Given the description of an element on the screen output the (x, y) to click on. 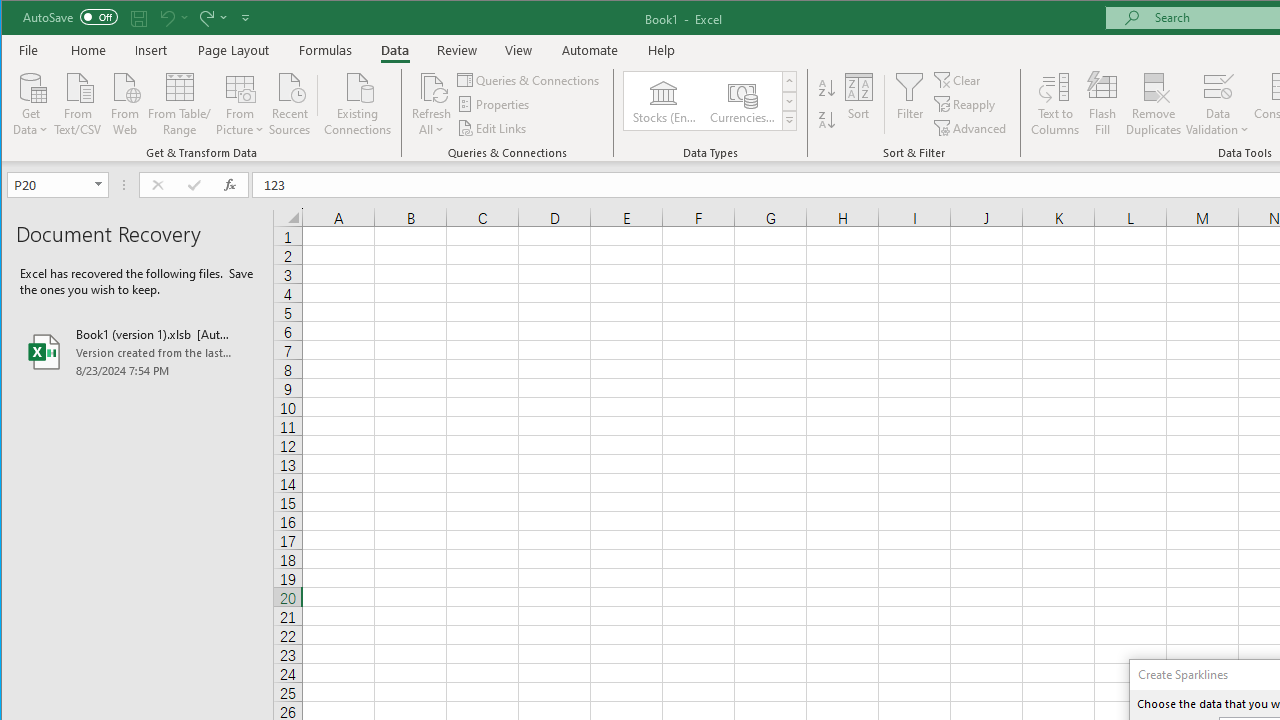
Text to Columns... (1055, 104)
Sort Smallest to Largest (827, 88)
Queries & Connections (529, 80)
From Text/CSV (77, 101)
Existing Connections (358, 101)
Flash Fill (1102, 104)
Row Down (789, 101)
From Picture (240, 101)
Row up (789, 81)
